Given the description of an element on the screen output the (x, y) to click on. 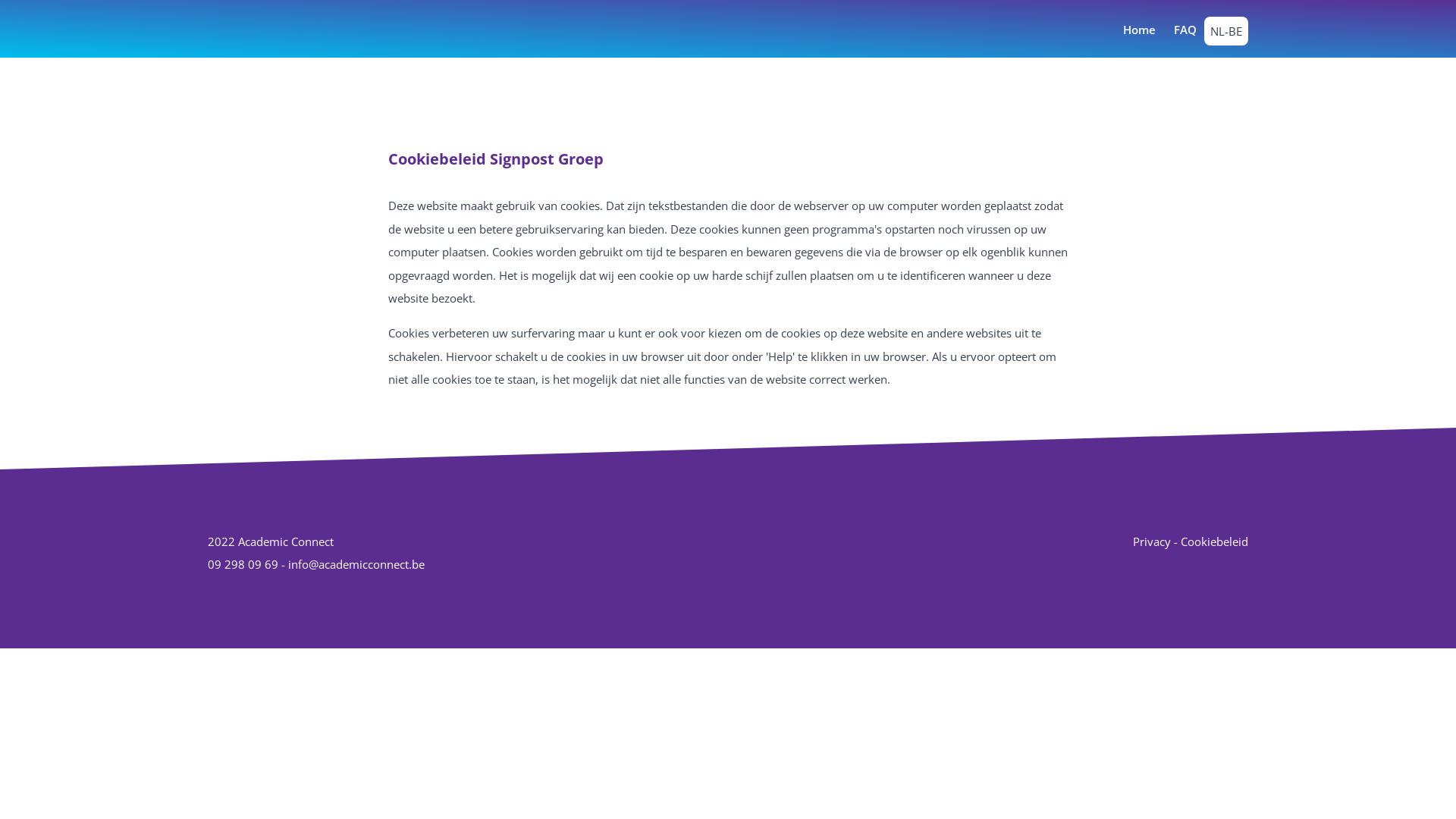
FAQ Element type: text (1185, 30)
Cookiebeleid Element type: text (1214, 541)
Home Element type: text (1139, 30)
Privacy Element type: text (1151, 541)
